Given the description of an element on the screen output the (x, y) to click on. 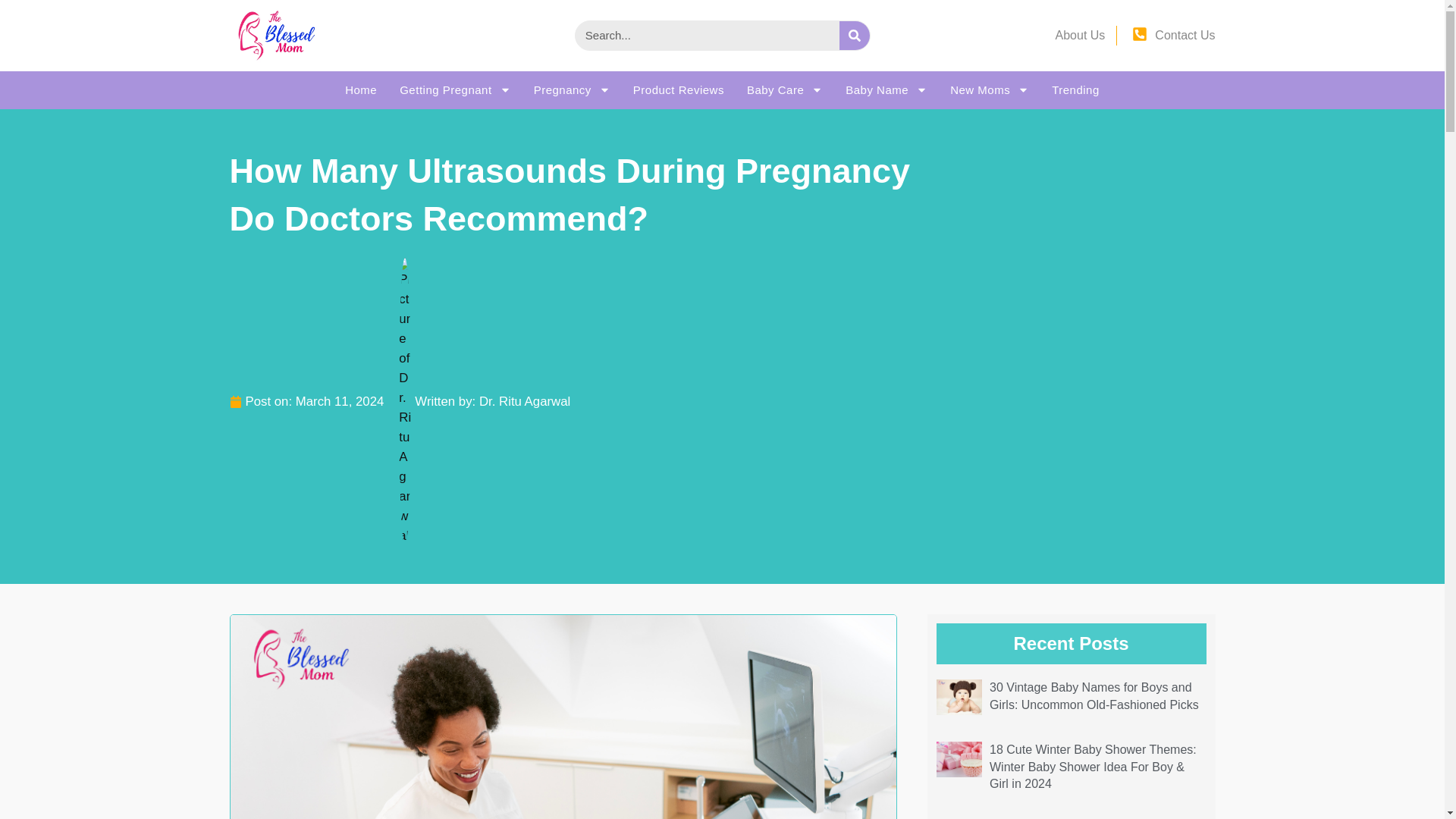
Home (361, 89)
Getting Pregnant (454, 89)
Pregnancy (572, 89)
Baby Name (886, 89)
Baby Care (784, 89)
Trending (1075, 89)
New Moms (989, 89)
About Us (1080, 34)
Product Reviews (678, 89)
Contact Us (1184, 34)
